Given the description of an element on the screen output the (x, y) to click on. 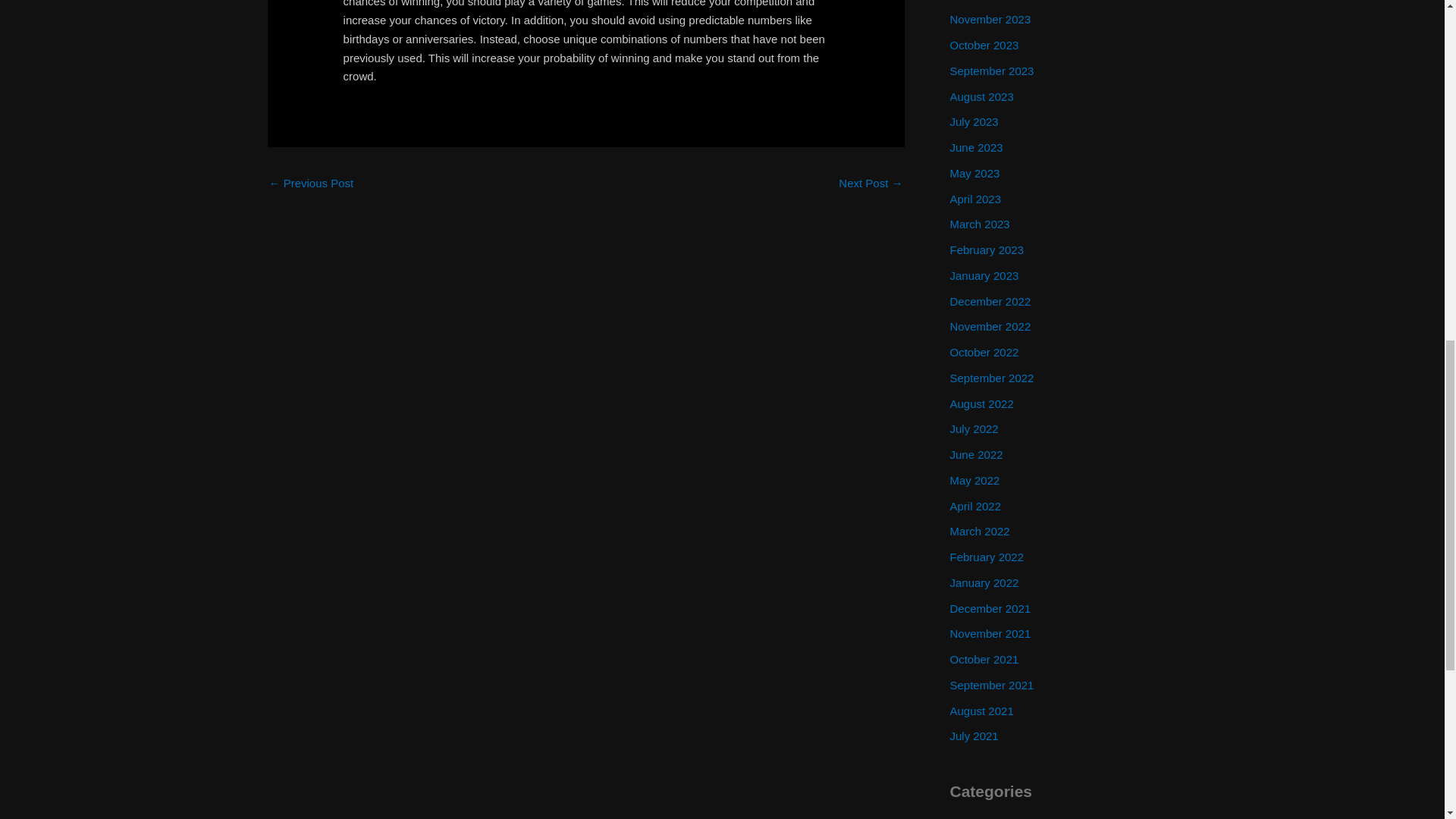
September 2023 (991, 70)
November 2022 (989, 326)
July 2023 (973, 121)
June 2023 (976, 146)
How to Choose a Casino Online (870, 184)
November 2023 (989, 19)
September 2022 (991, 377)
December 2022 (989, 300)
October 2022 (983, 351)
May 2023 (973, 173)
February 2023 (986, 249)
July 2022 (973, 428)
March 2023 (979, 223)
